Given the description of an element on the screen output the (x, y) to click on. 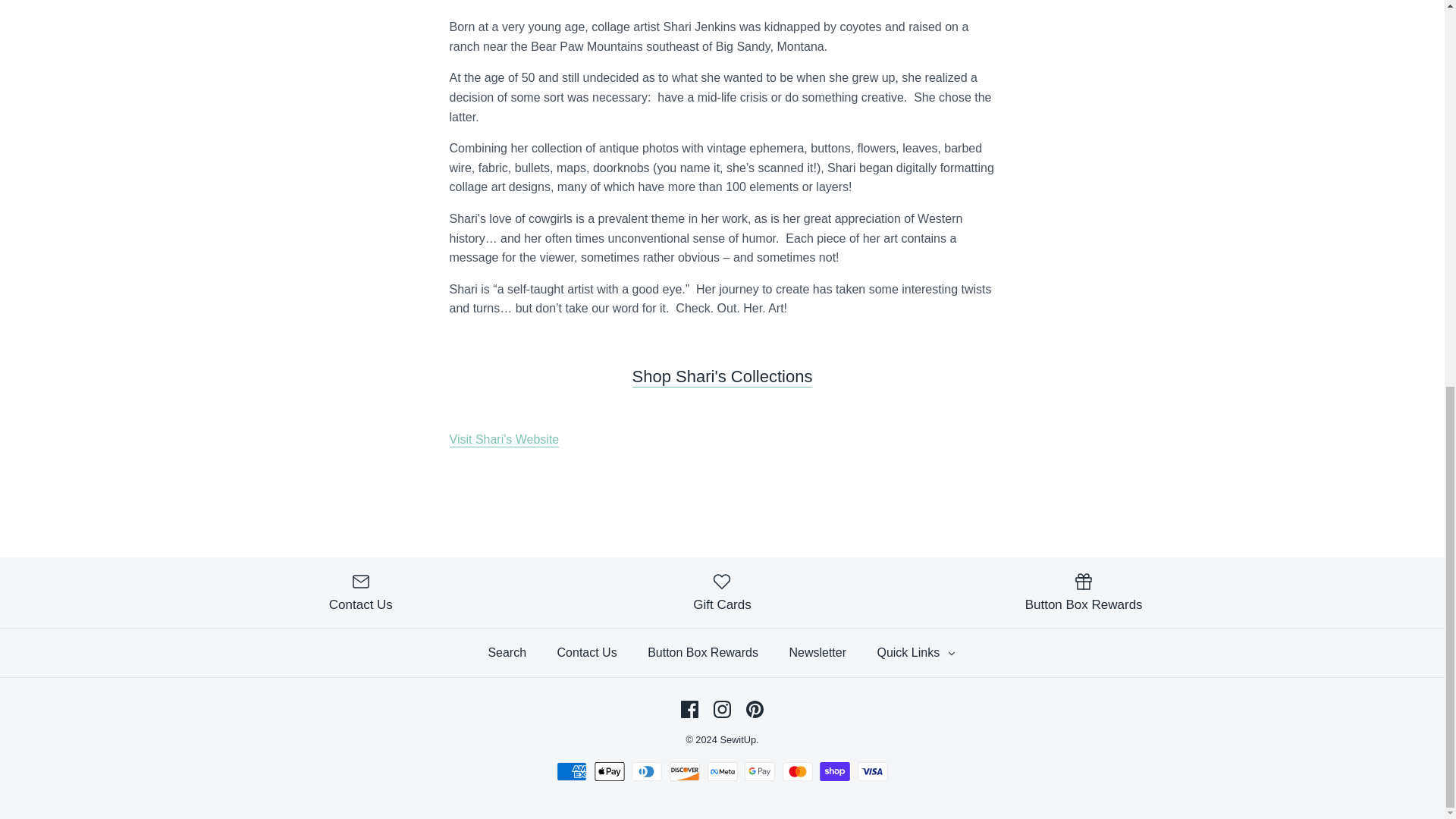
Diners Club (646, 771)
American Express (571, 771)
Discover (684, 771)
Apple Pay (609, 771)
Instagram (721, 709)
Pinterest (753, 709)
Facebook (689, 709)
Toggle menu (951, 653)
Shari Jenkins Fabric (721, 376)
Shari Jenkins Website (503, 440)
